Given the description of an element on the screen output the (x, y) to click on. 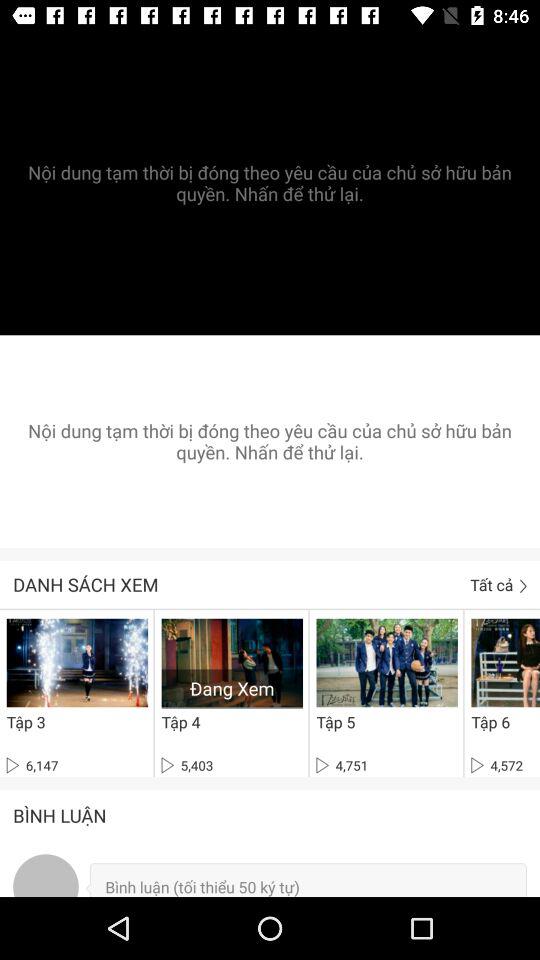
select the image which is above 4572 number (505, 663)
